Given the description of an element on the screen output the (x, y) to click on. 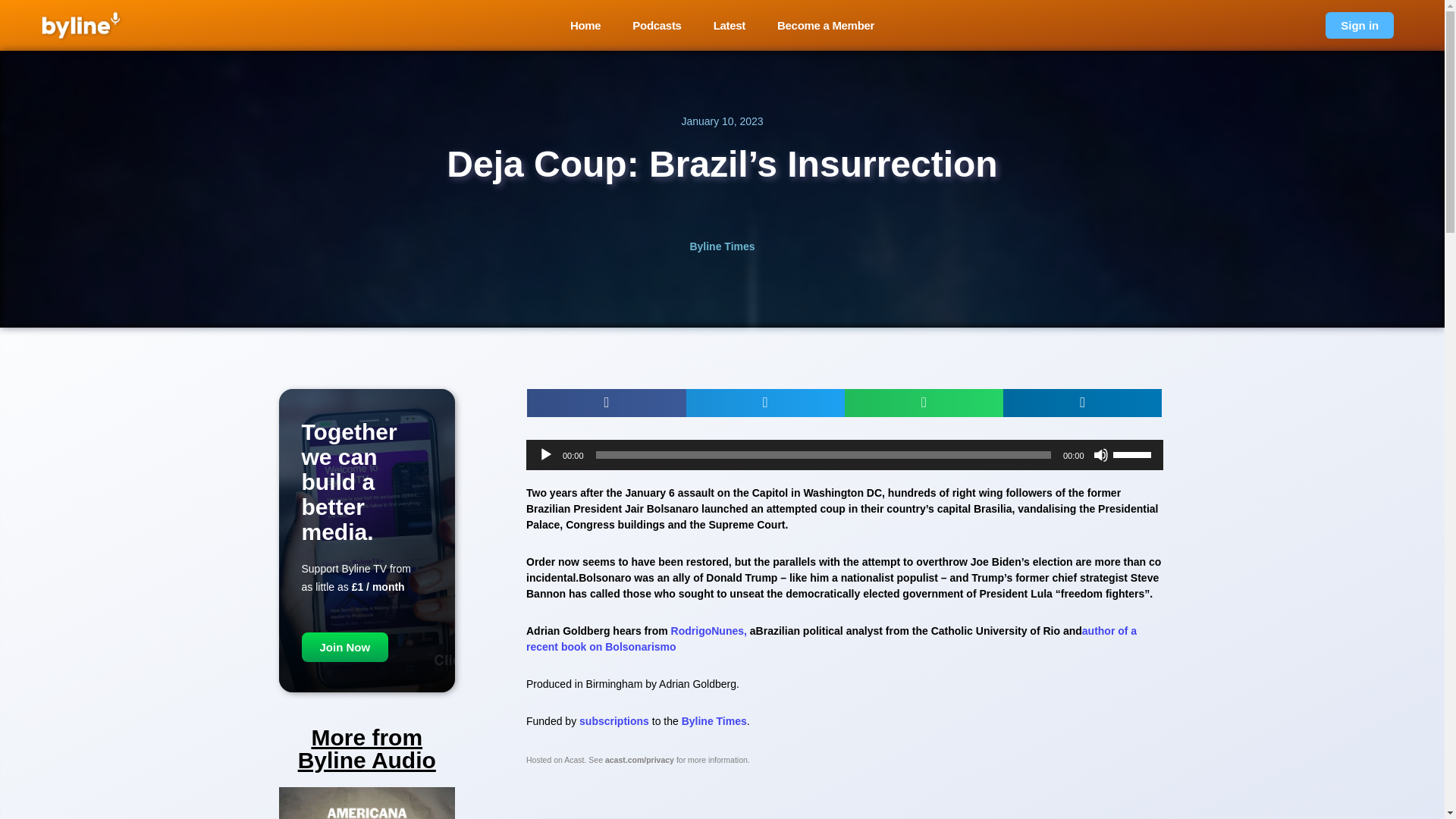
Sign in (1358, 25)
Mute (1100, 454)
Podcasts (656, 25)
Home (585, 25)
Play (545, 454)
Become a Member (826, 25)
Join Now (344, 646)
Latest (729, 25)
